Given the description of an element on the screen output the (x, y) to click on. 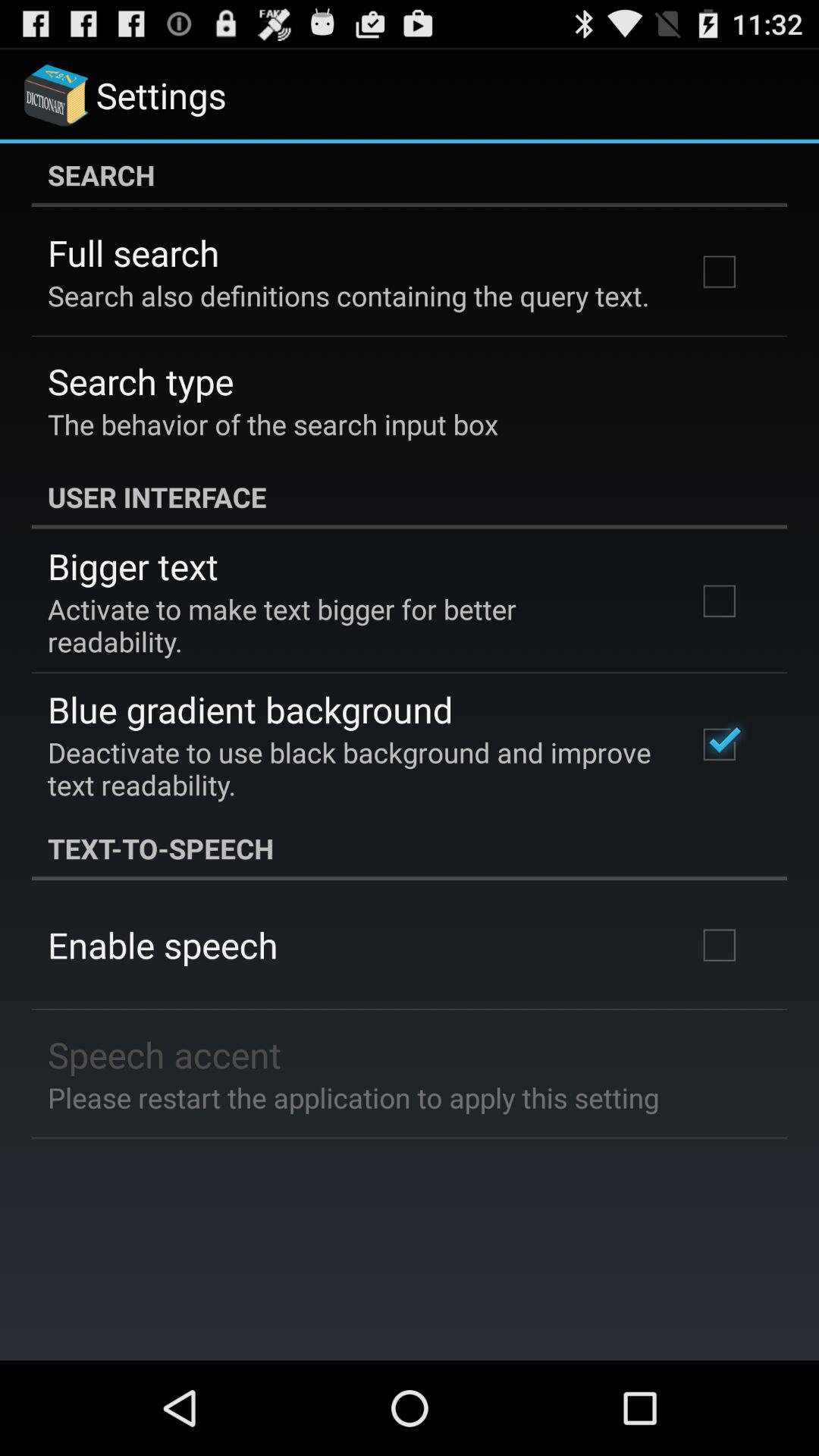
turn on speech accent at the bottom left corner (164, 1054)
